Given the description of an element on the screen output the (x, y) to click on. 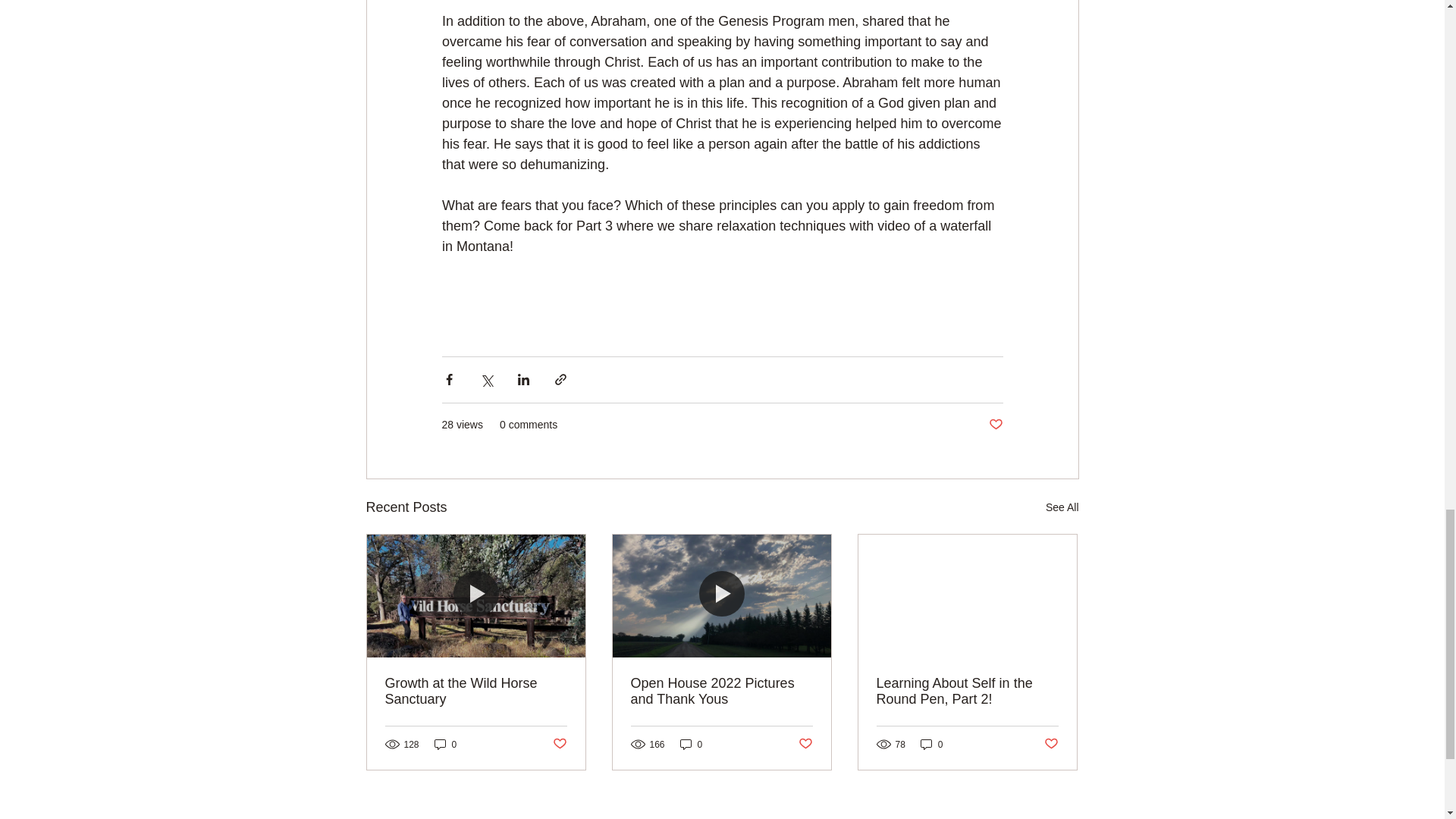
See All (1061, 507)
Open House 2022 Pictures and Thank Yous (721, 691)
0 (931, 744)
Post not marked as liked (995, 424)
0 (691, 744)
Post not marked as liked (804, 744)
Learning About Self in the Round Pen, Part 2! (967, 691)
Post not marked as liked (1050, 744)
Post not marked as liked (558, 744)
Growth at the Wild Horse Sanctuary (476, 691)
0 (445, 744)
